Given the description of an element on the screen output the (x, y) to click on. 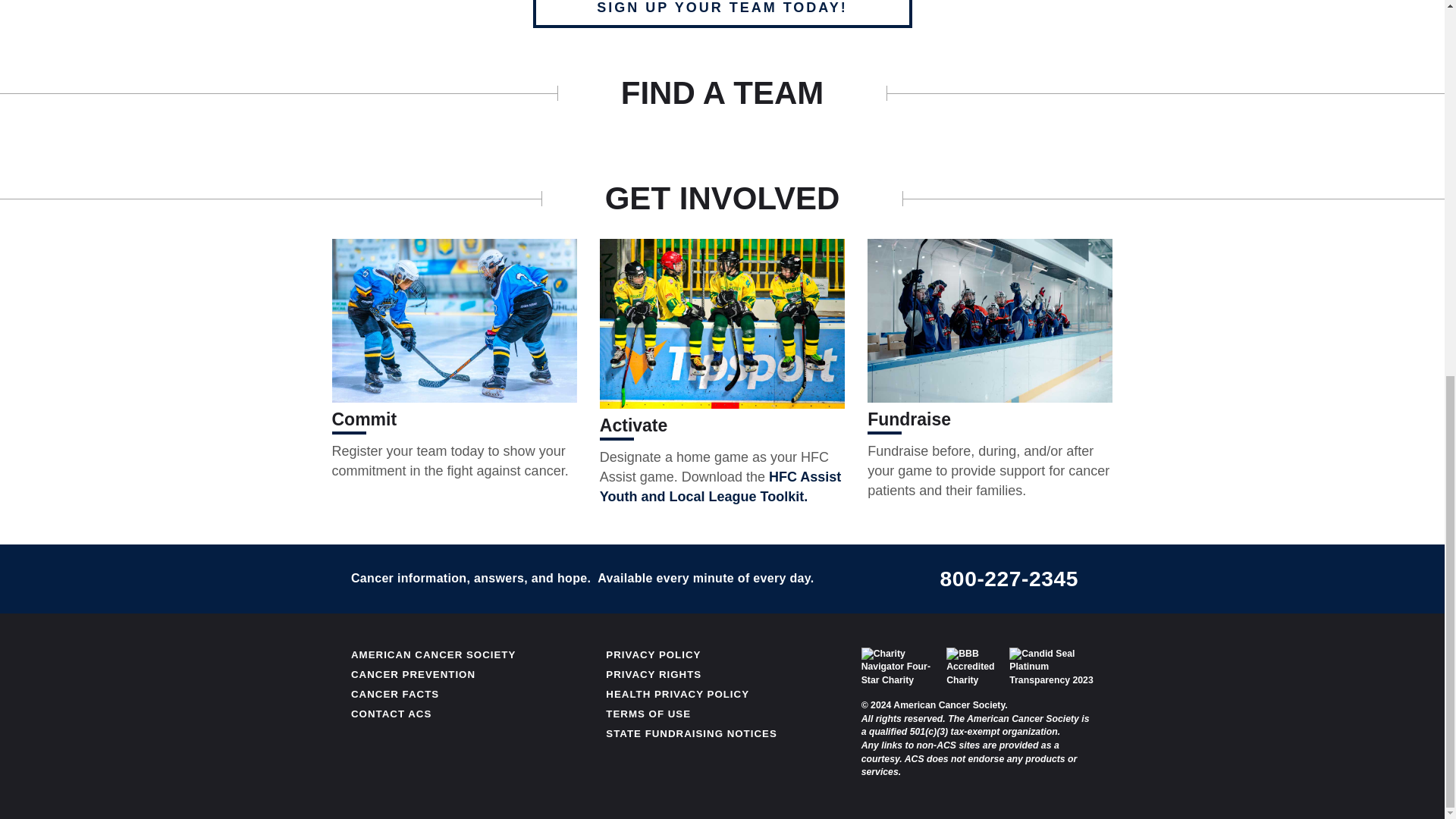
CANCER FACTS (394, 694)
TERMS OF USE (647, 713)
CANCER PREVENTION (413, 674)
HFC Assist Youth and Local League Toolkit. (720, 486)
SIGN UP YOUR TEAM TODAY! (721, 13)
STATE FUNDRAISING NOTICES (690, 733)
Sign Up Today (721, 13)
800-227-2345 (1009, 578)
PRIVACY RIGHTS (653, 674)
AMERICAN CANCER SOCIETY (432, 654)
PRIVACY POLICY (652, 654)
HEALTH PRIVACY POLICY (677, 694)
CONTACT ACS (390, 713)
